Given the description of an element on the screen output the (x, y) to click on. 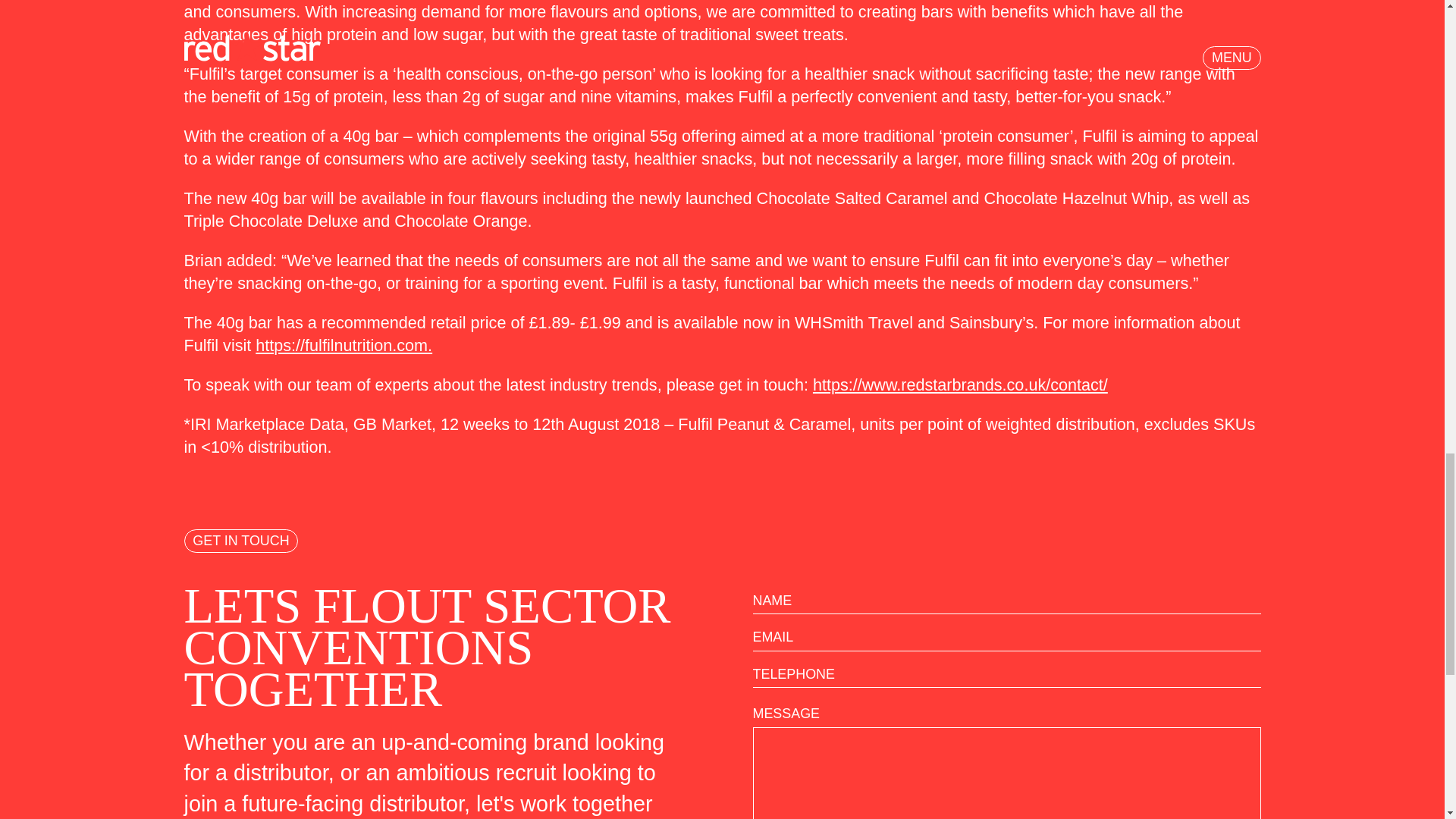
GET IN TOUCH (240, 540)
